Given the description of an element on the screen output the (x, y) to click on. 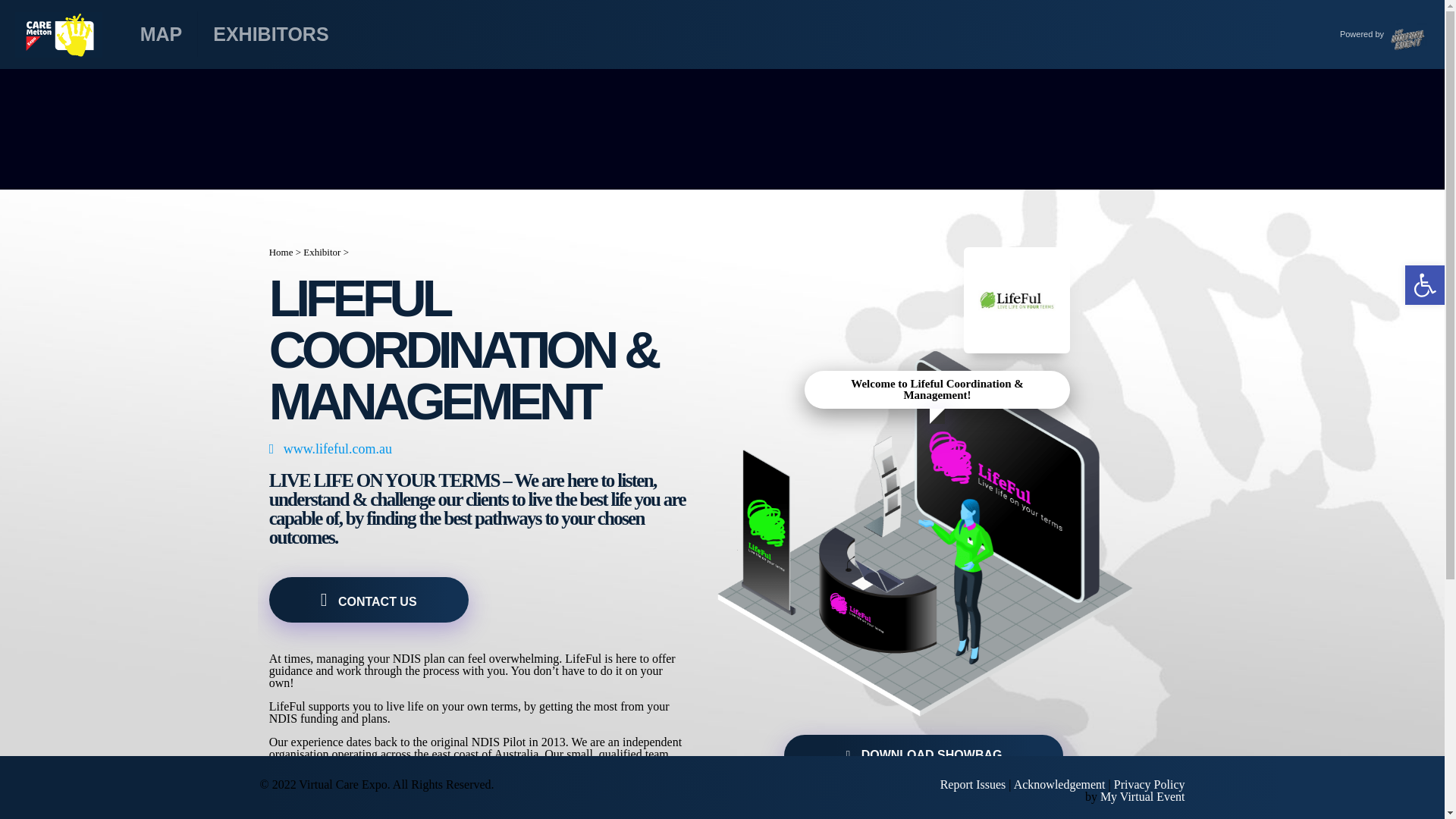
Accessibility Tools (1424, 284)
Powered by (1376, 33)
MAP (161, 33)
Virtual Care Expo (57, 33)
Home (281, 251)
www.lifeful.com.au (330, 448)
EXHIBITORS (270, 33)
